Given the description of an element on the screen output the (x, y) to click on. 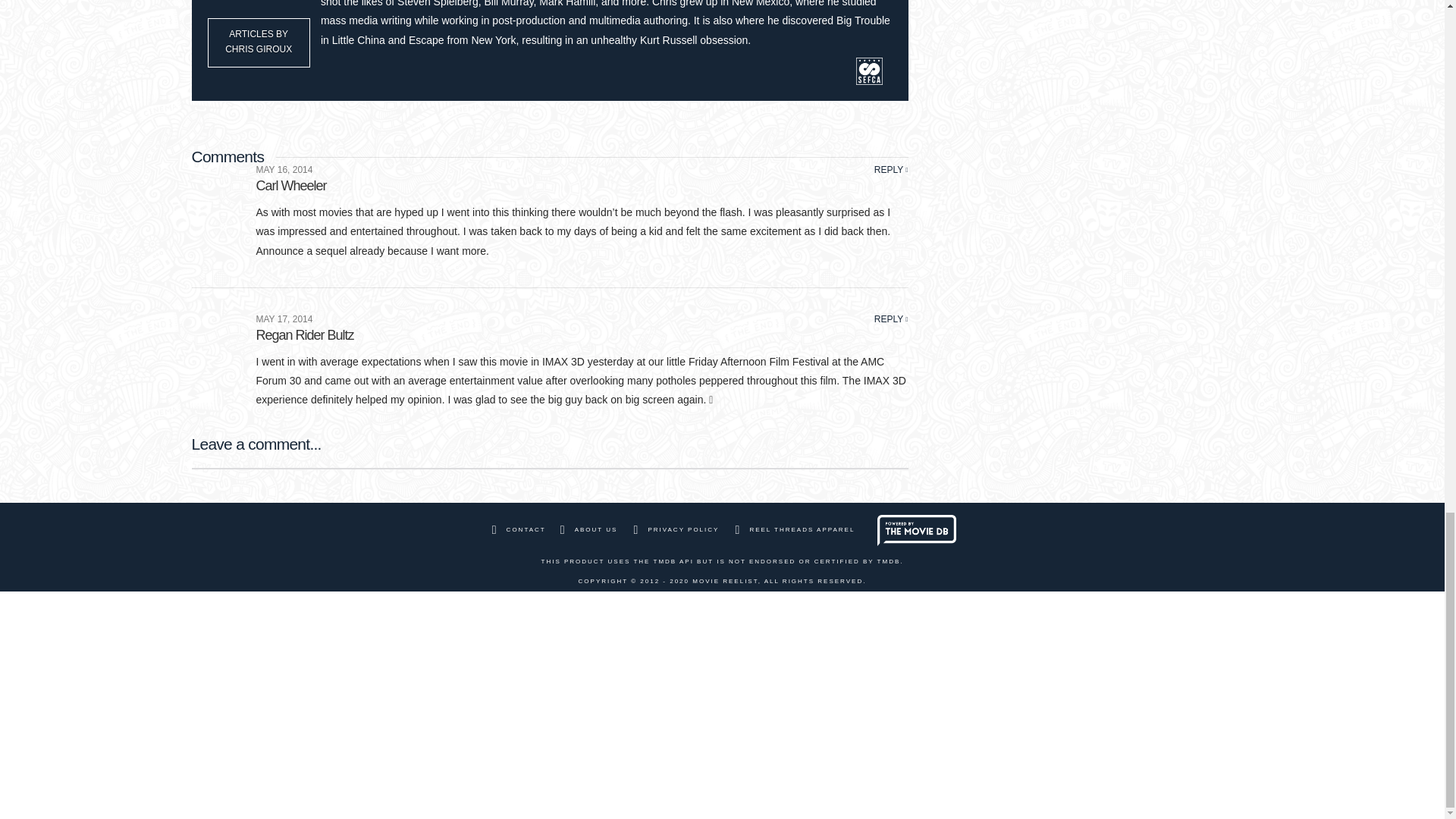
Follow on Twitter (414, 68)
Like on Facebook (386, 68)
Visit my Website (331, 68)
Professional Critic Affiliation (869, 70)
Send an Email (359, 68)
View on Instagram (440, 68)
